Given the description of an element on the screen output the (x, y) to click on. 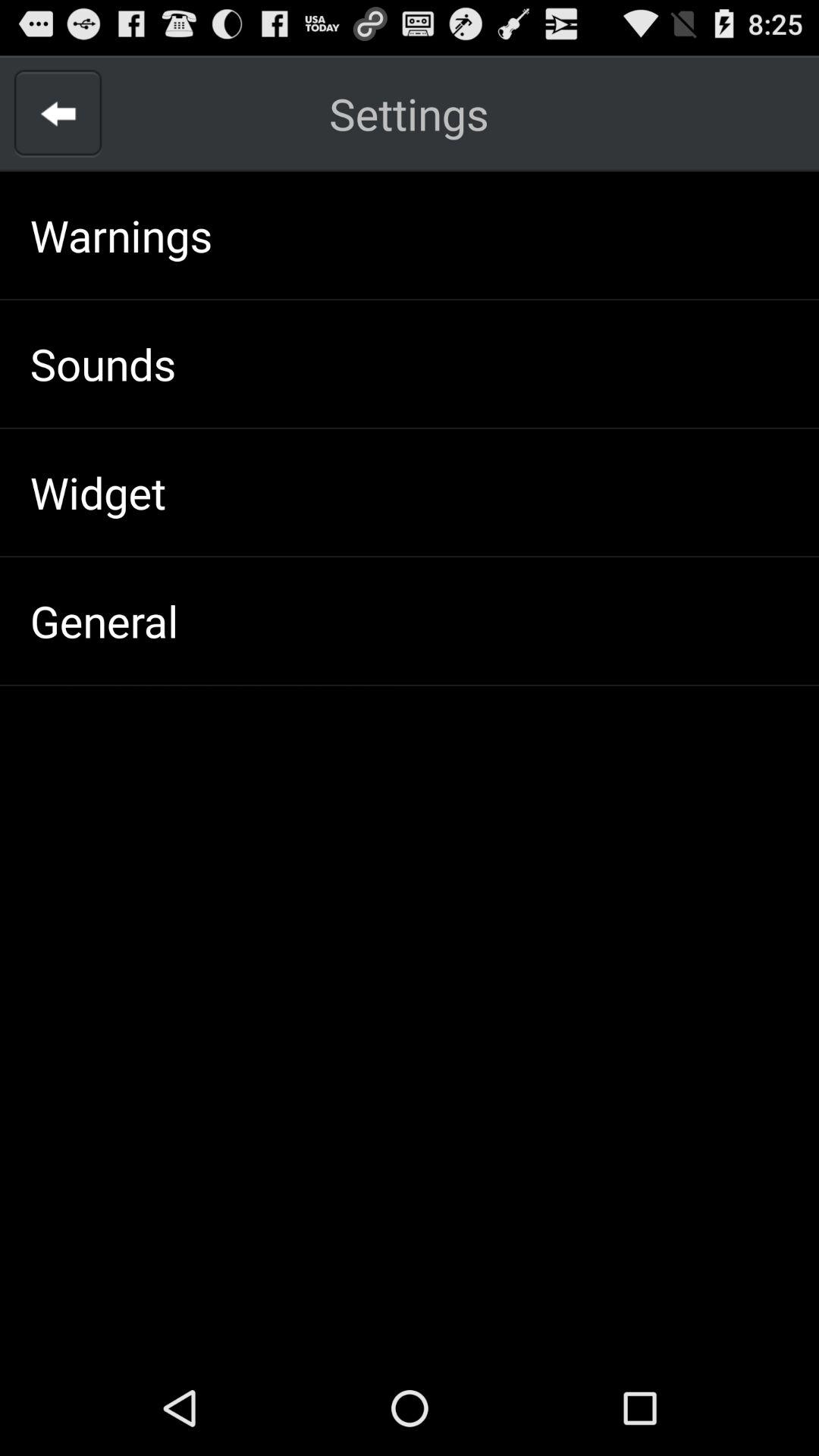
select the widget (98, 491)
